Given the description of an element on the screen output the (x, y) to click on. 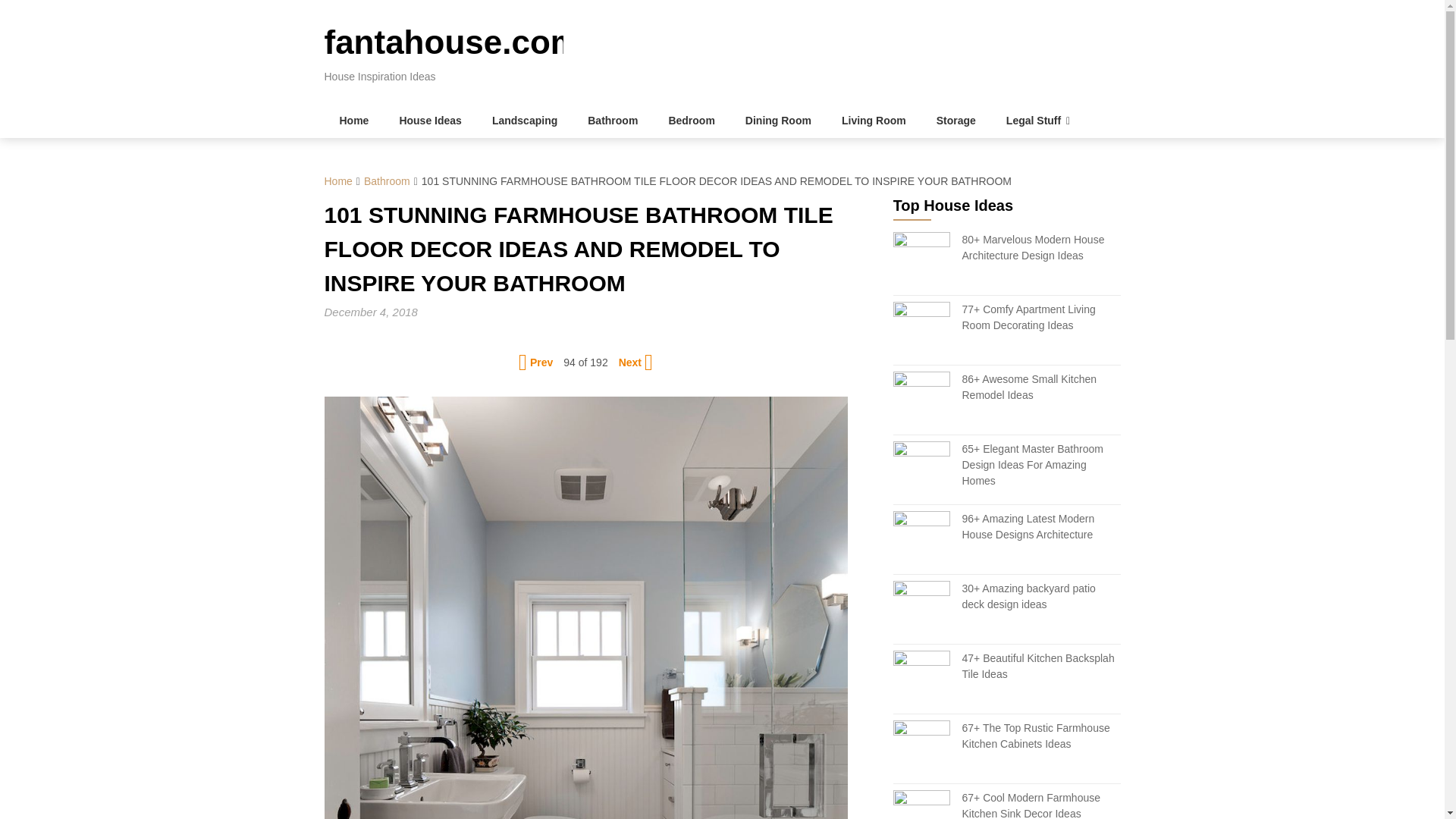
Bathroom (387, 181)
Prev (537, 362)
House Ideas (430, 121)
Landscaping (524, 121)
Living Room (874, 121)
Storage (956, 121)
Legal Stuff (1037, 121)
Next (633, 362)
Bedroom (690, 121)
